Given the description of an element on the screen output the (x, y) to click on. 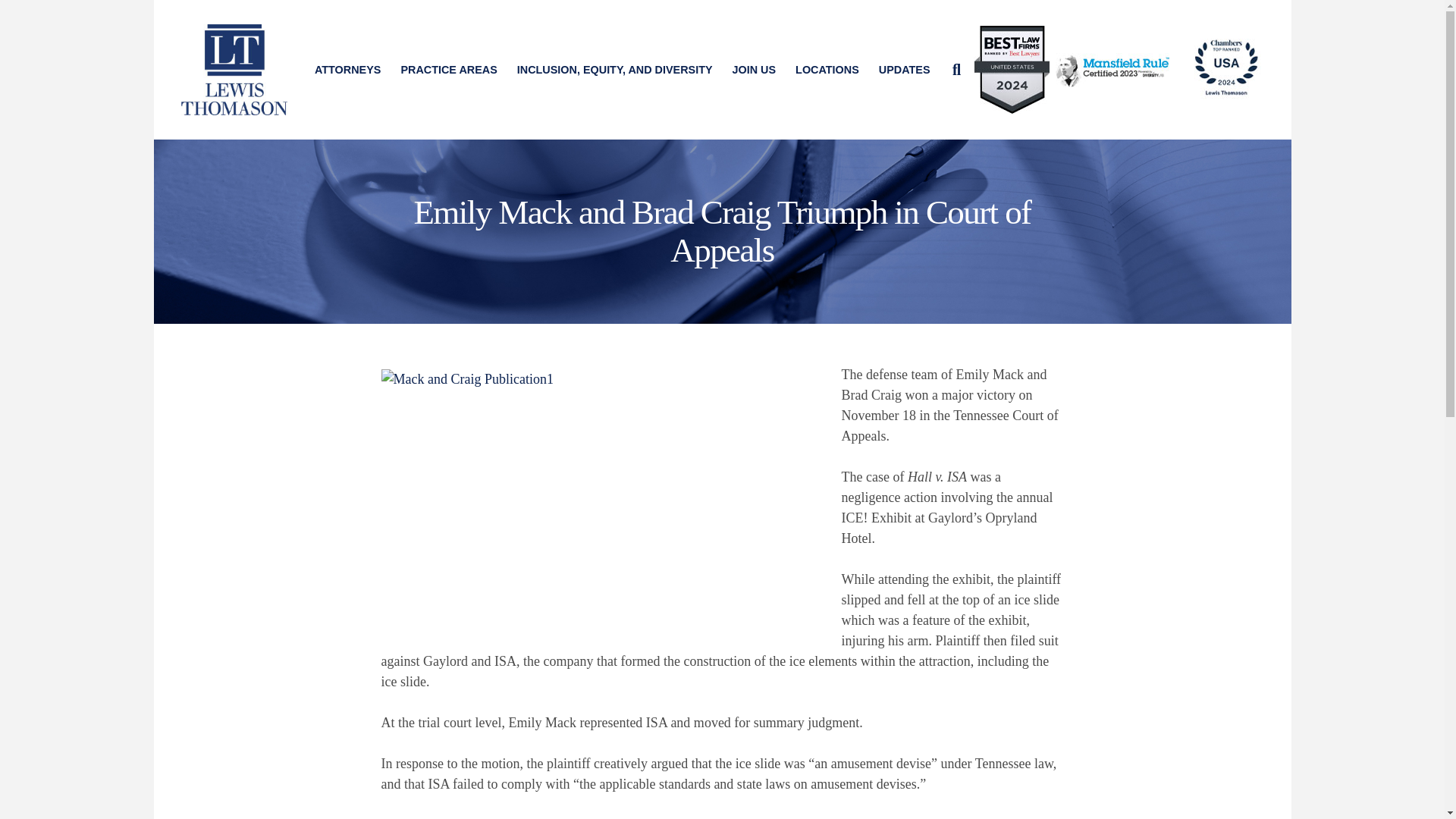
UPDATES (904, 69)
JOIN US (754, 69)
LOCATIONS (827, 69)
ATTORNEYS (347, 69)
INCLUSION, EQUITY, AND DIVERSITY (614, 69)
PRACTICE AREAS (448, 69)
